Given the description of an element on the screen output the (x, y) to click on. 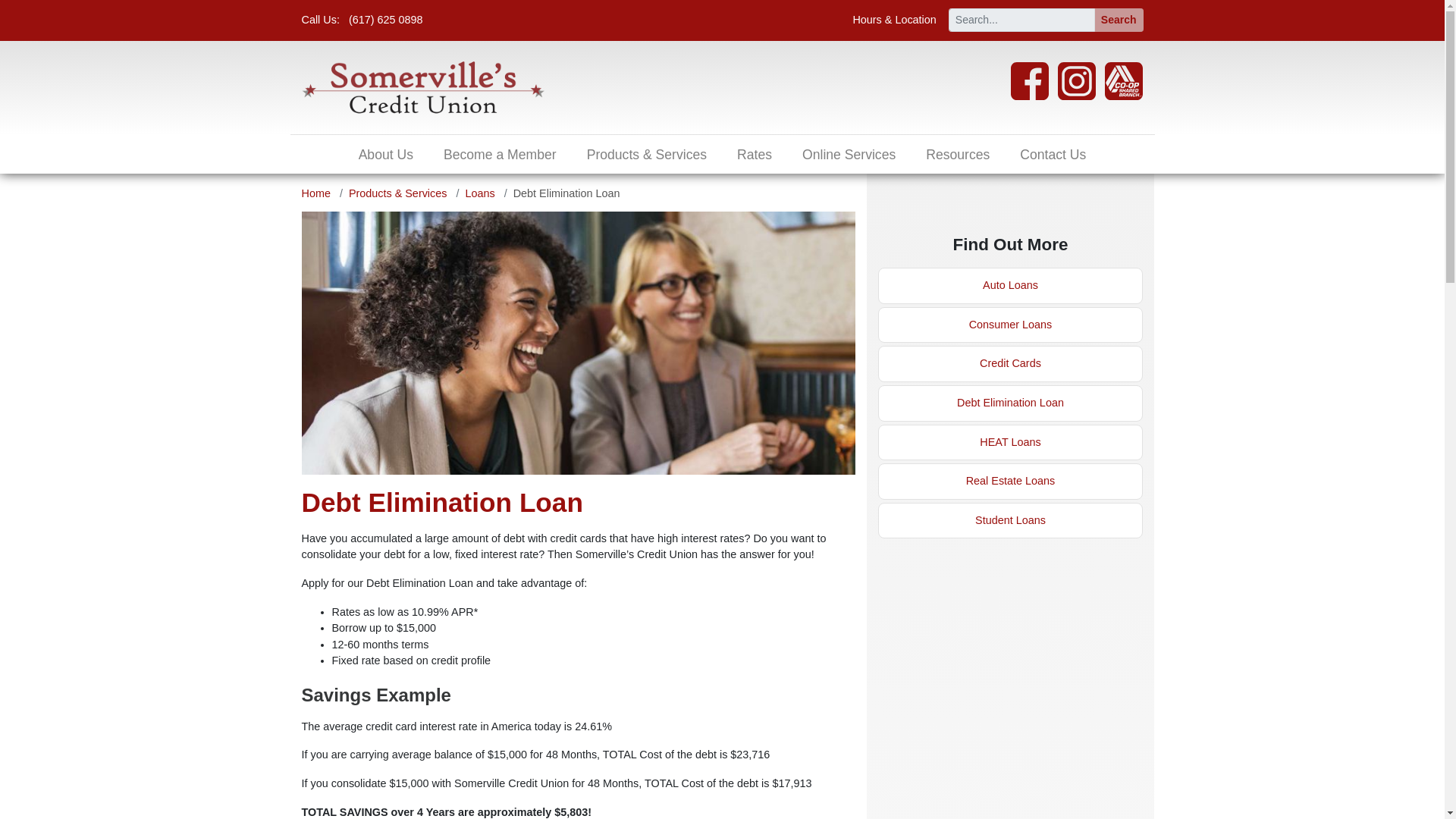
Rates (754, 154)
Search for: (1021, 19)
Resources (957, 154)
About Us (385, 154)
Become a Member (500, 154)
Online Services (849, 154)
Search (1118, 19)
